Given the description of an element on the screen output the (x, y) to click on. 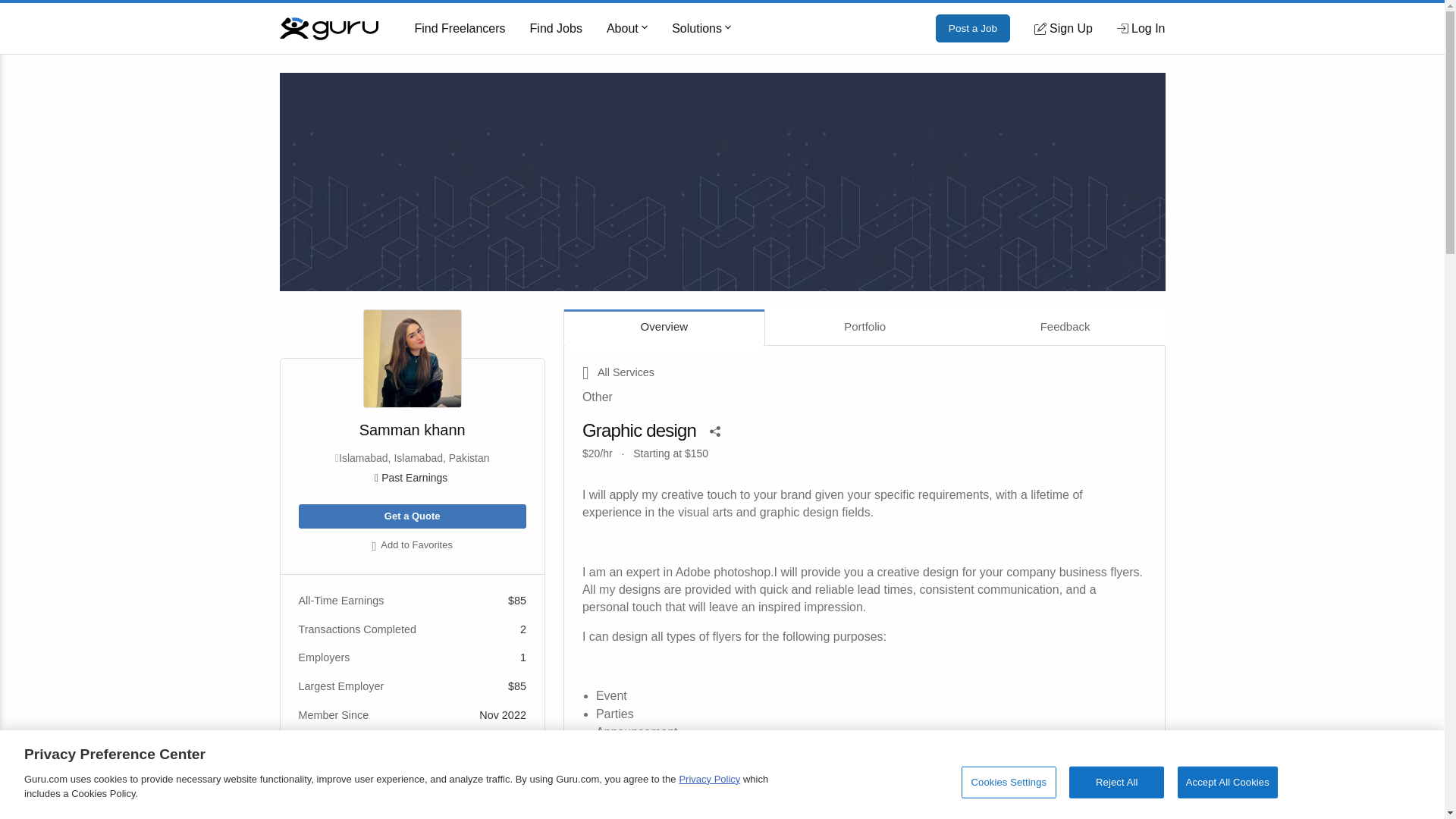
Add to Favorites (411, 546)
Post a Job (973, 28)
Find Jobs (555, 28)
Log In (1140, 28)
Sign Up (1063, 28)
Find a Job (555, 28)
Earnings in last 12 months (411, 477)
Find a Freelancer (459, 28)
Find Freelancers (459, 28)
Post a Job (973, 28)
Guru (328, 27)
Get a Quote (411, 516)
